Given the description of an element on the screen output the (x, y) to click on. 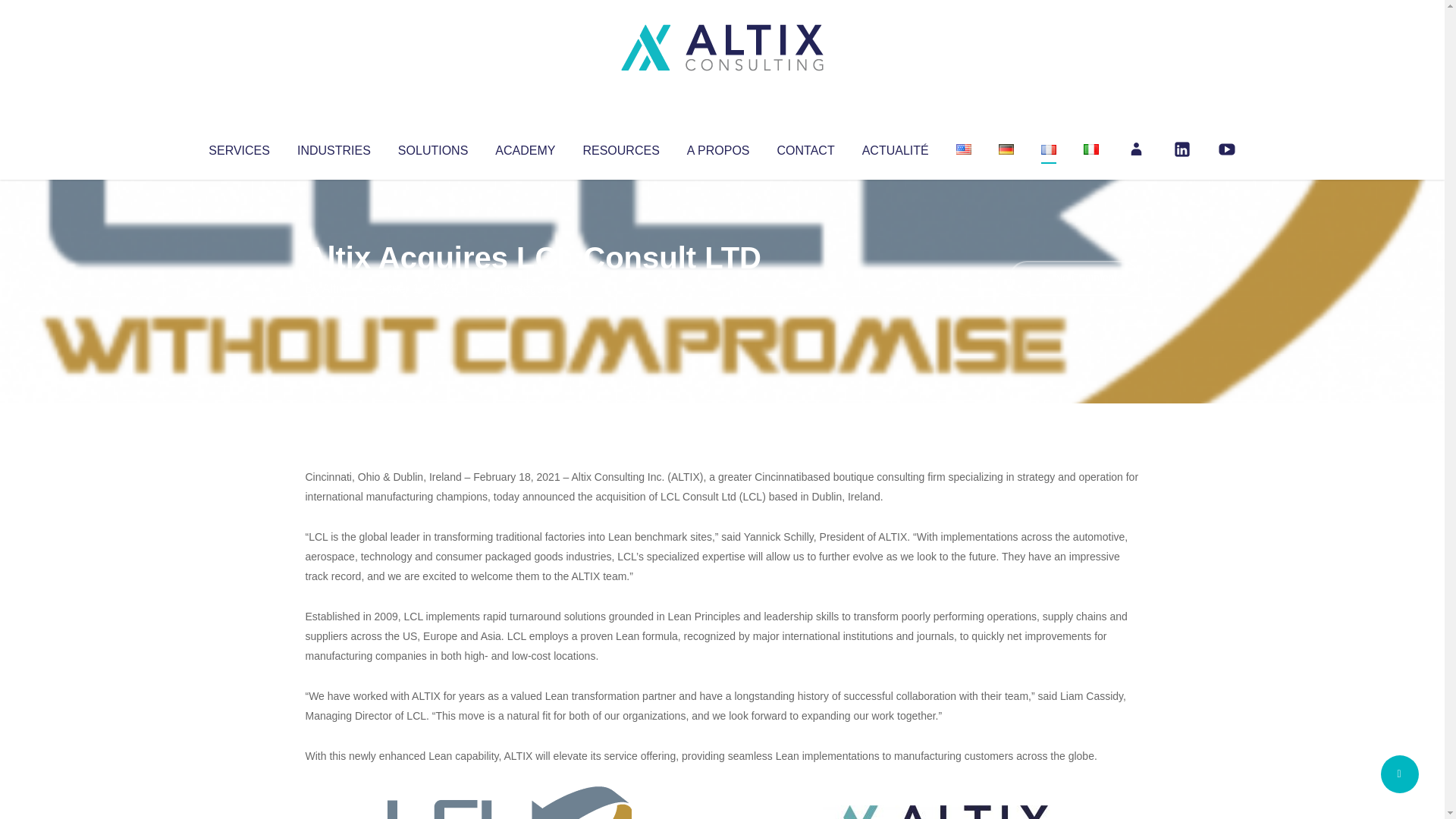
ACADEMY (524, 146)
Articles par Altix (333, 287)
Uncategorized (530, 287)
SOLUTIONS (432, 146)
RESOURCES (620, 146)
SERVICES (238, 146)
No Comments (1073, 278)
A PROPOS (718, 146)
INDUSTRIES (334, 146)
Altix (333, 287)
